Given the description of an element on the screen output the (x, y) to click on. 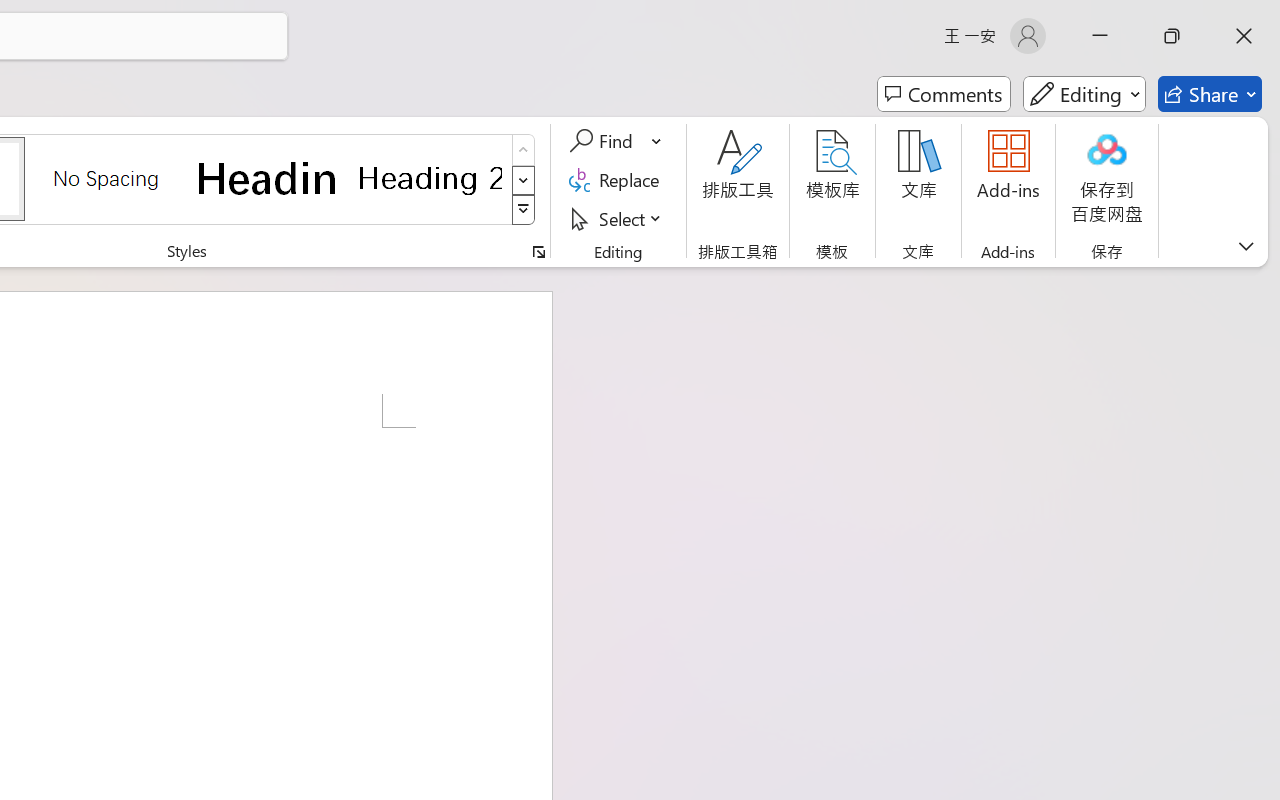
Styles... (538, 252)
Heading 1 (267, 178)
Row Down (523, 180)
